Given the description of an element on the screen output the (x, y) to click on. 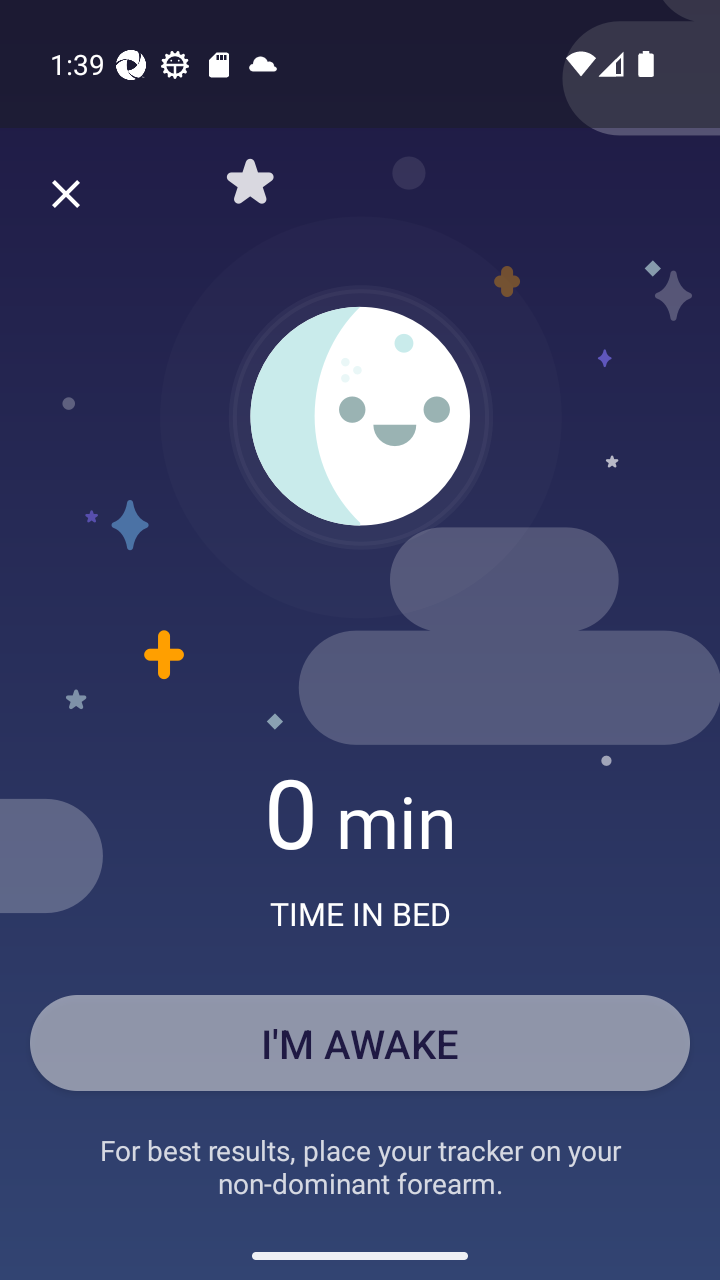
Close (65, 193)
I'M AWAKE (359, 1042)
